Given the description of an element on the screen output the (x, y) to click on. 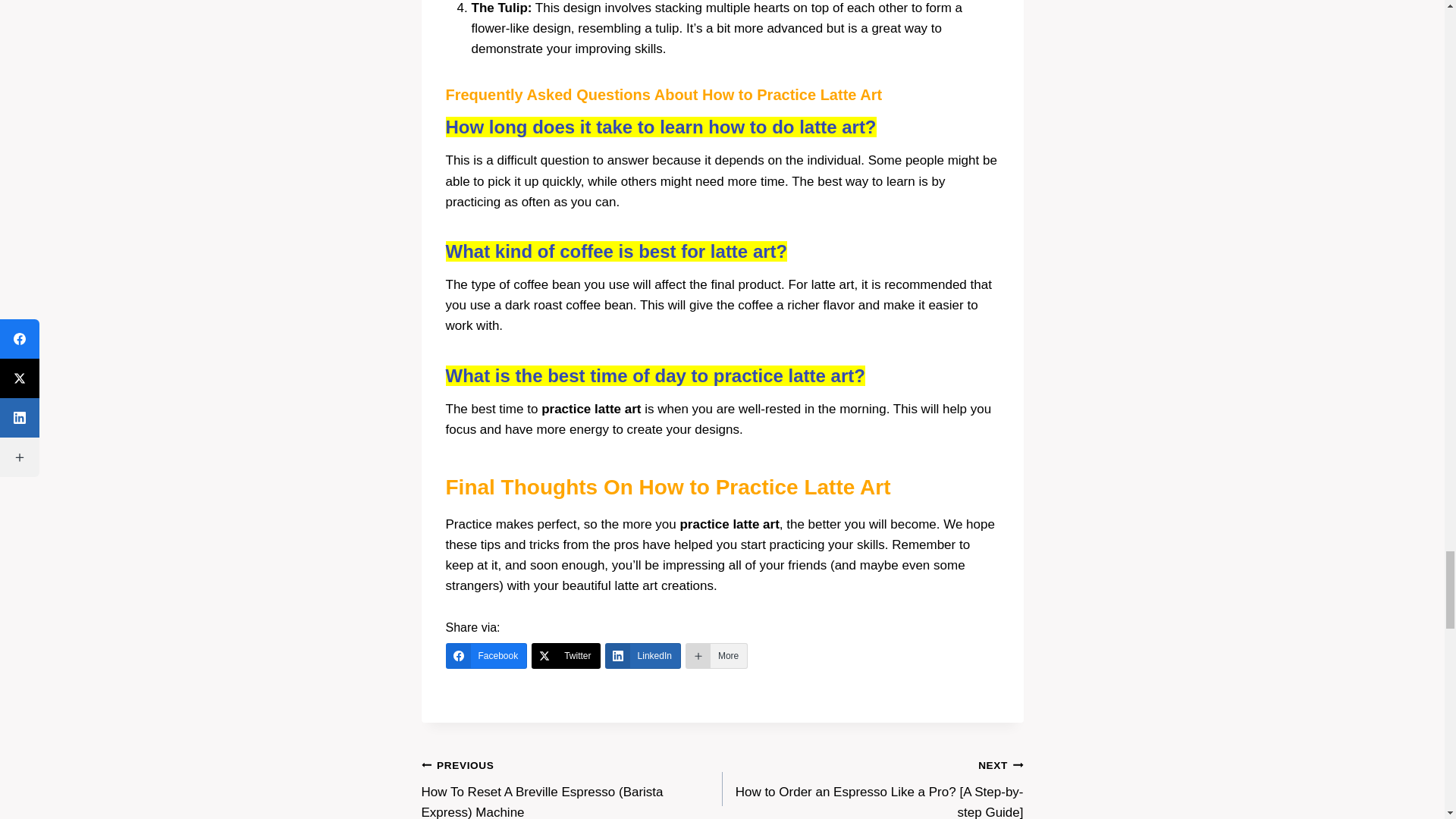
LinkedIn (643, 655)
More (716, 655)
Twitter (565, 655)
Facebook (486, 655)
